Given the description of an element on the screen output the (x, y) to click on. 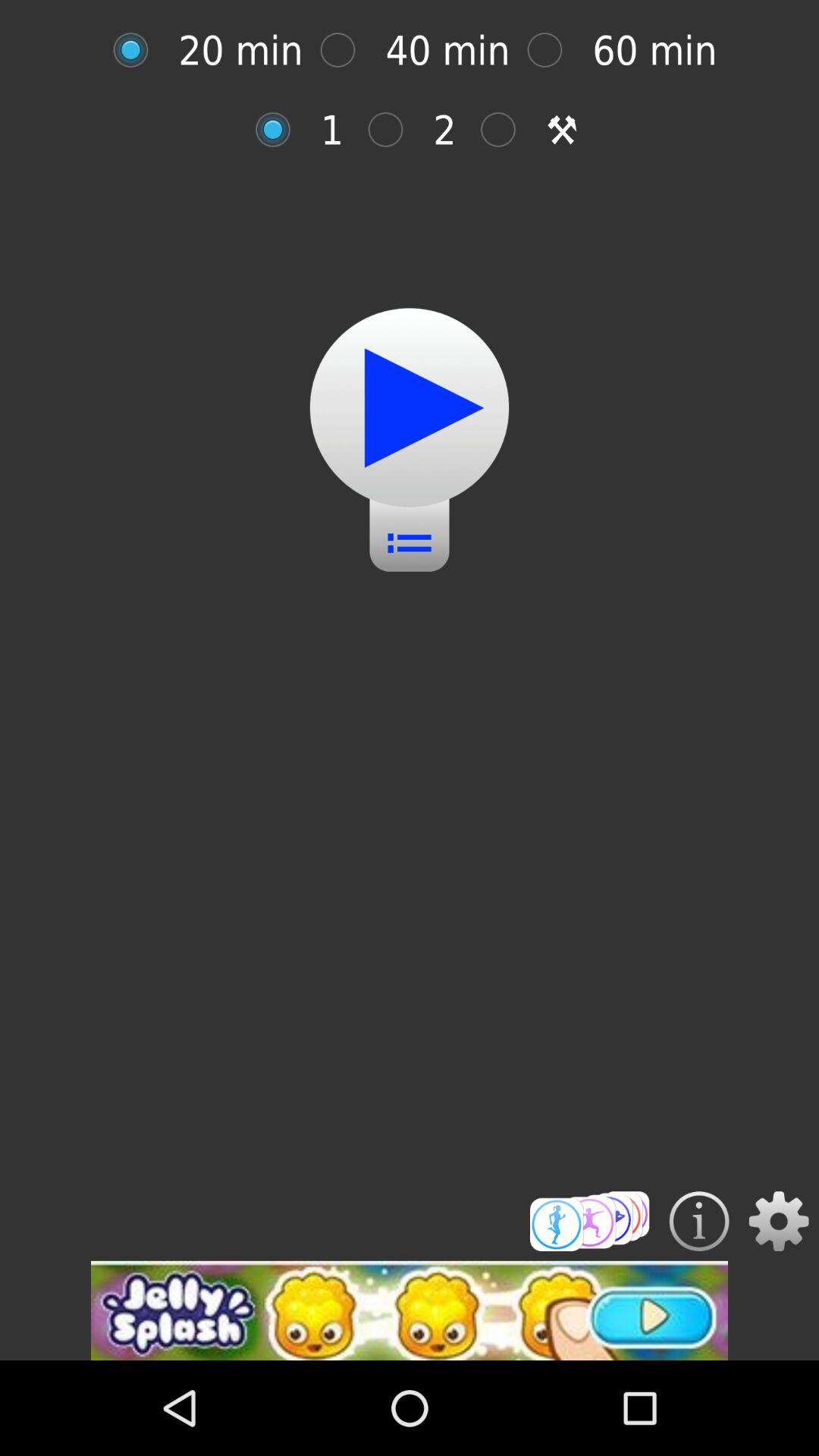
go to advertisement (409, 1310)
